Given the description of an element on the screen output the (x, y) to click on. 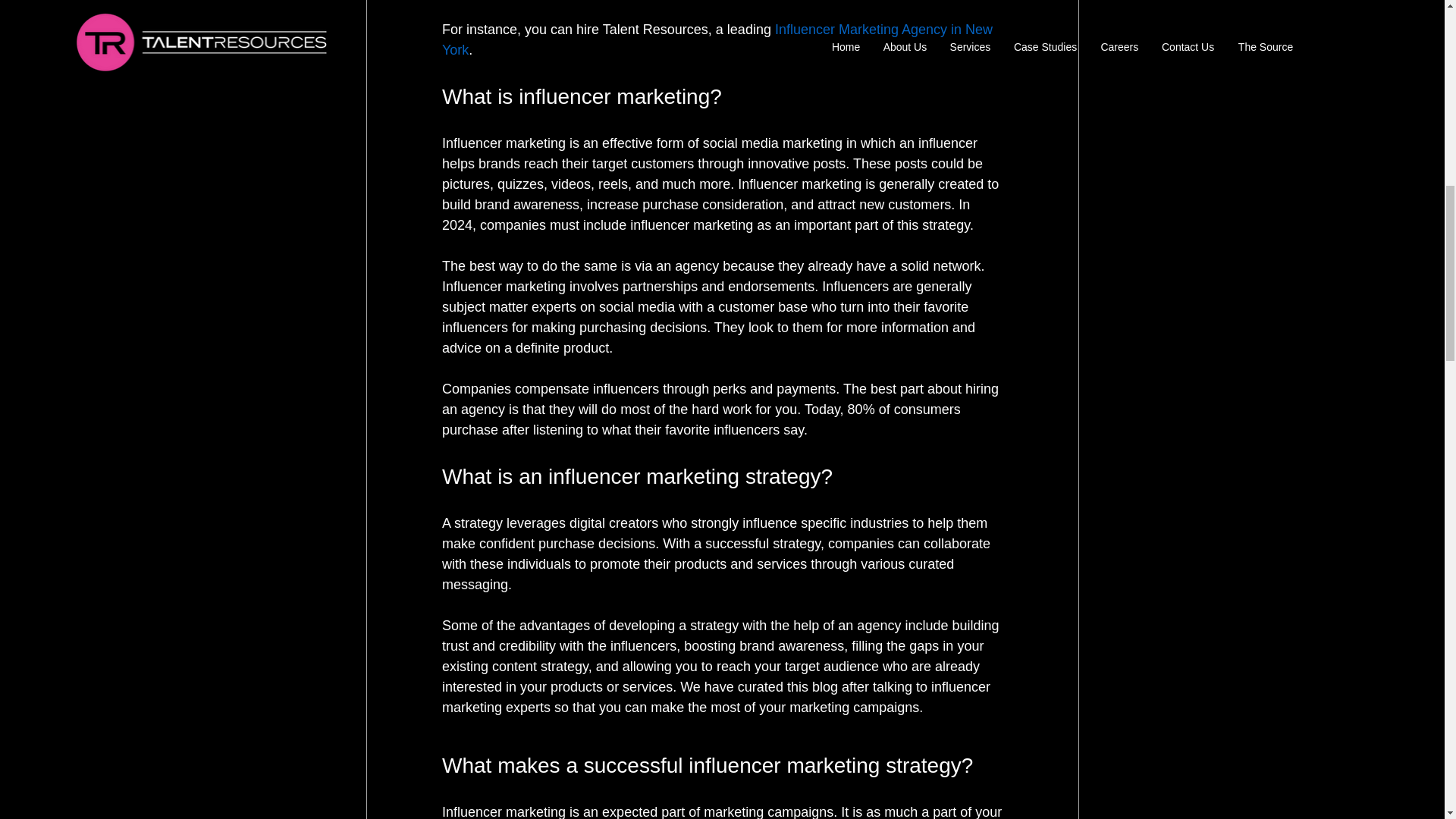
Influencer Marketing Agency in New York (718, 39)
